Given the description of an element on the screen output the (x, y) to click on. 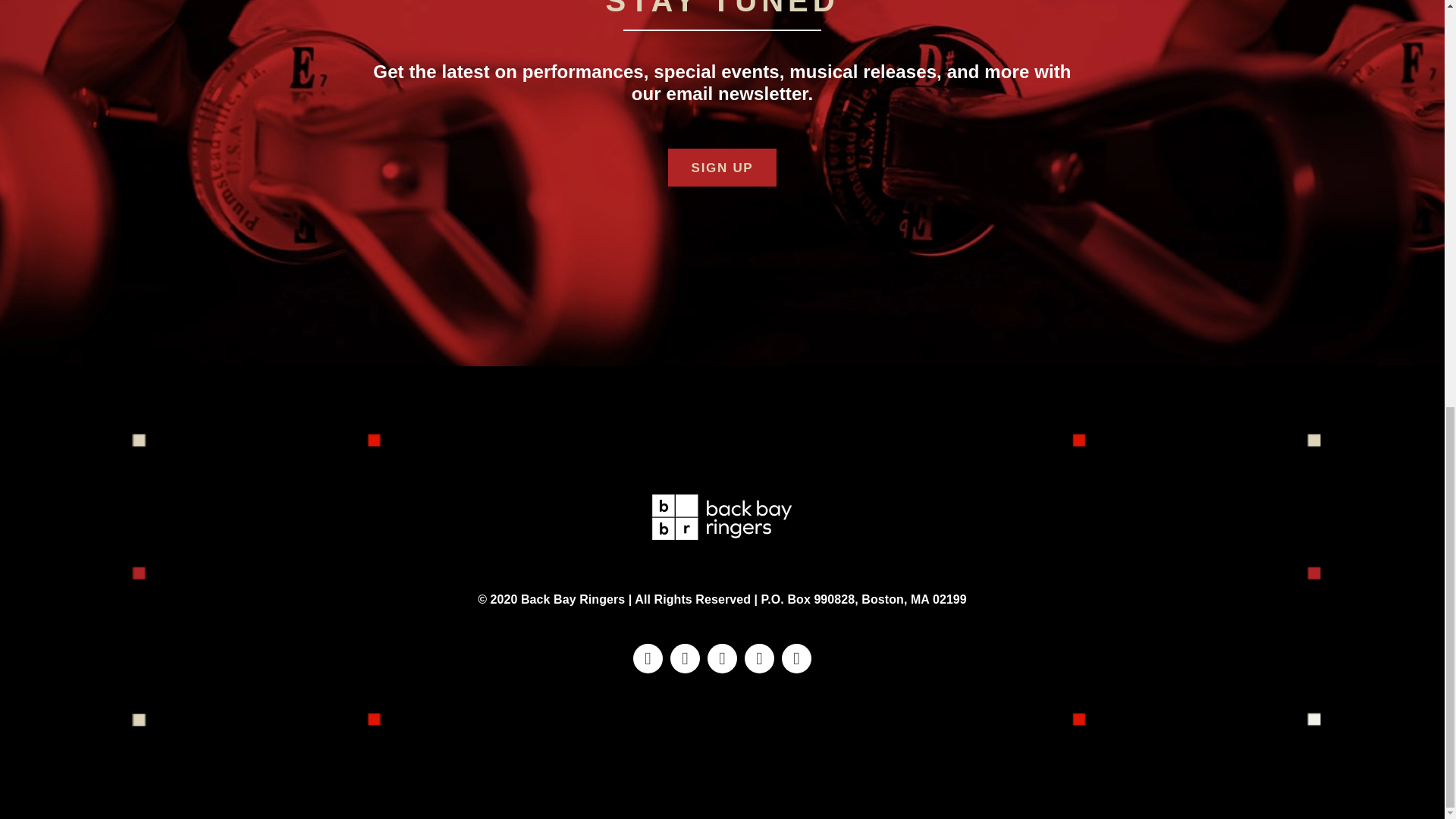
Patreon (795, 658)
Subscribe (722, 167)
Facebook (647, 658)
Instagram (684, 658)
YouTube (759, 658)
X (721, 658)
